Given the description of an element on the screen output the (x, y) to click on. 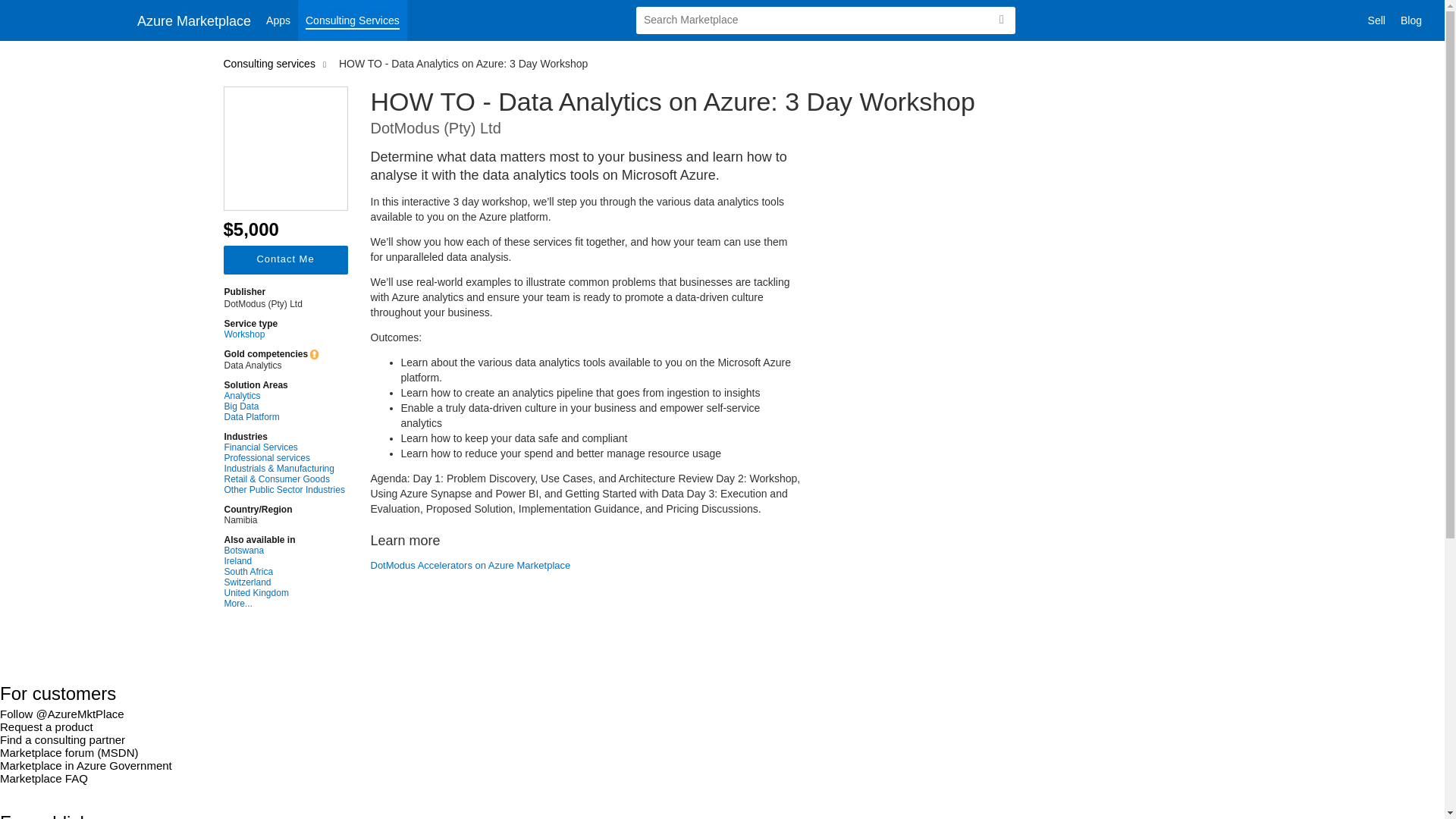
Search (1001, 19)
Workshop (284, 334)
Big Data (284, 406)
Ireland (284, 561)
Other Public Sector Industries (284, 489)
United Kingdom (284, 593)
Switzerland (284, 582)
Data Platform (284, 416)
South Africa (284, 571)
Azure Marketplace (194, 20)
Consulting Services (352, 20)
Analytics (284, 395)
Professional services (284, 457)
Consulting services (271, 63)
Apps (278, 20)
